Given the description of an element on the screen output the (x, y) to click on. 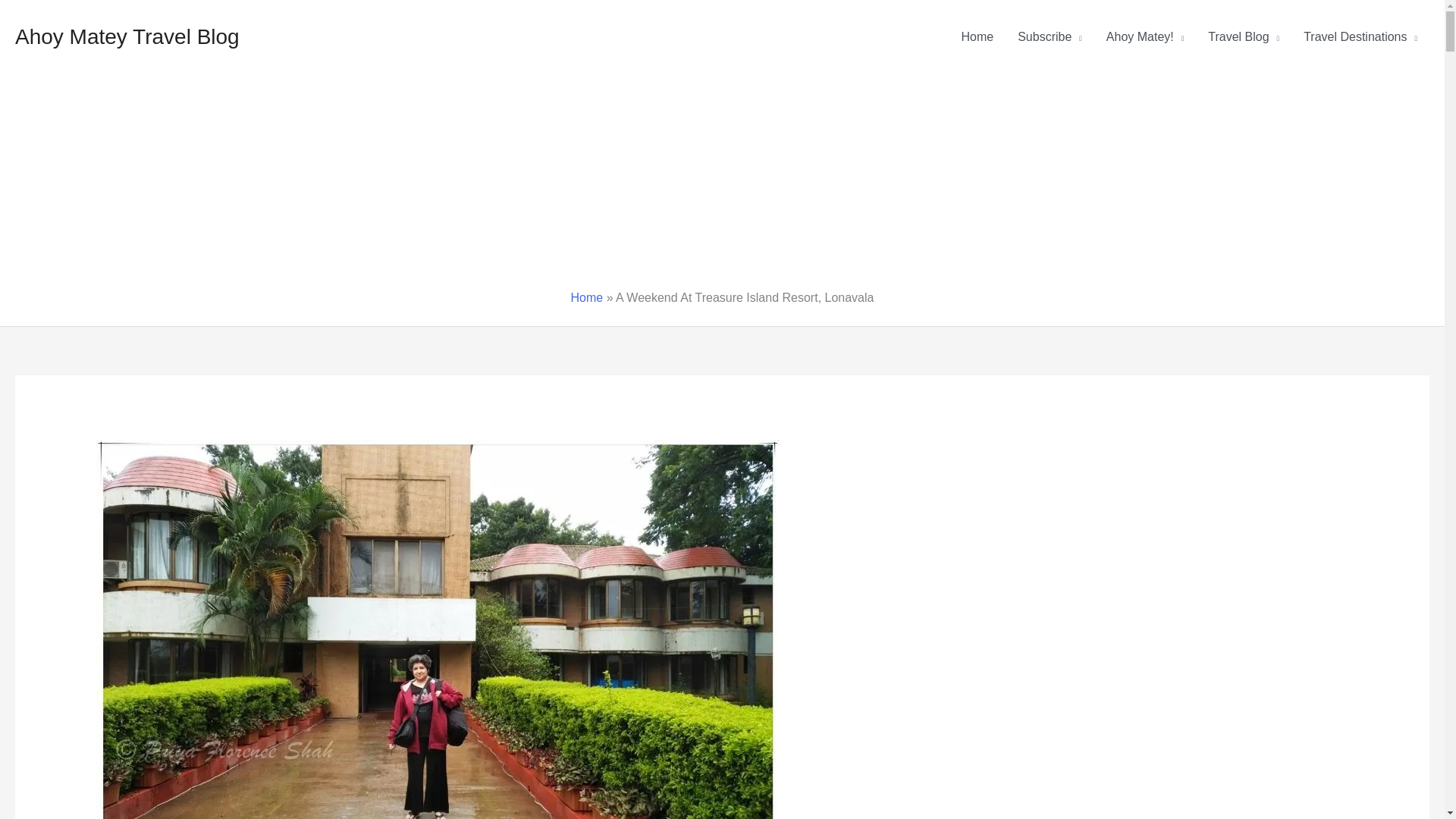
Ahoy Matey Travel Blog (127, 36)
Travel Destinations (1360, 37)
Ahoy Matey! (1144, 37)
Travel Blog (1243, 37)
Home (977, 37)
Subscribe (1050, 37)
